Given the description of an element on the screen output the (x, y) to click on. 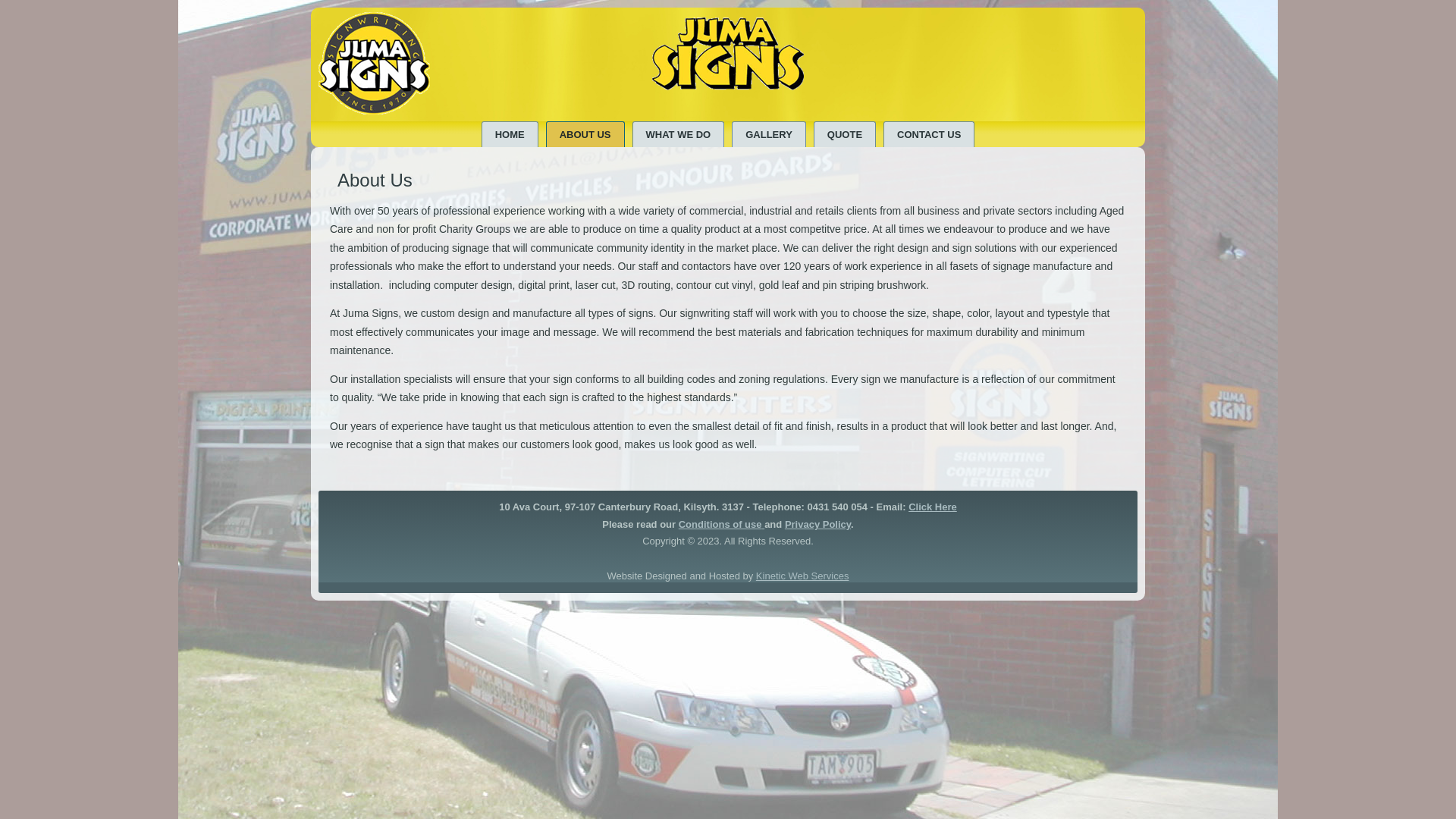
Privacy Policy Element type: text (817, 524)
QUOTE Element type: text (844, 134)
WHAT WE DO Element type: text (678, 134)
ABOUT US Element type: text (585, 134)
HOME Element type: text (509, 134)
Click Here Element type: text (932, 506)
Conditions of use Element type: text (720, 524)
CONTACT US Element type: text (928, 134)
GALLERY Element type: text (768, 134)
Kinetic Web Services Element type: text (802, 575)
